Given the description of an element on the screen output the (x, y) to click on. 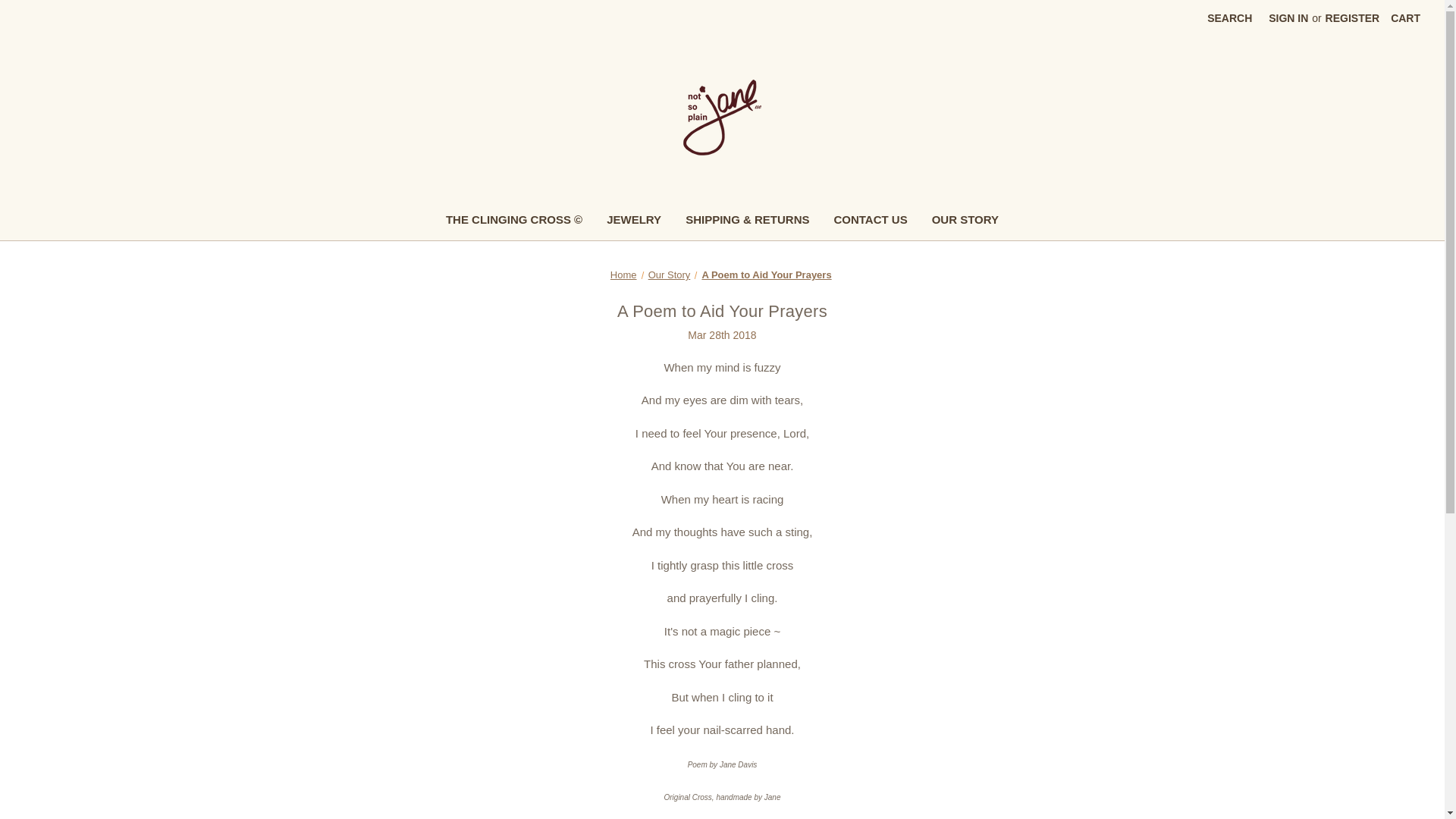
Our Story (668, 274)
REGISTER (1353, 18)
SIGN IN (1288, 18)
JEWELRY (633, 221)
OUR STORY (965, 221)
1 (721, 117)
SEARCH (1229, 18)
CART (1404, 18)
CONTACT US (869, 221)
Home (623, 274)
A Poem to Aid Your Prayers (766, 274)
A Poem to Aid Your Prayers (722, 311)
